Given the description of an element on the screen output the (x, y) to click on. 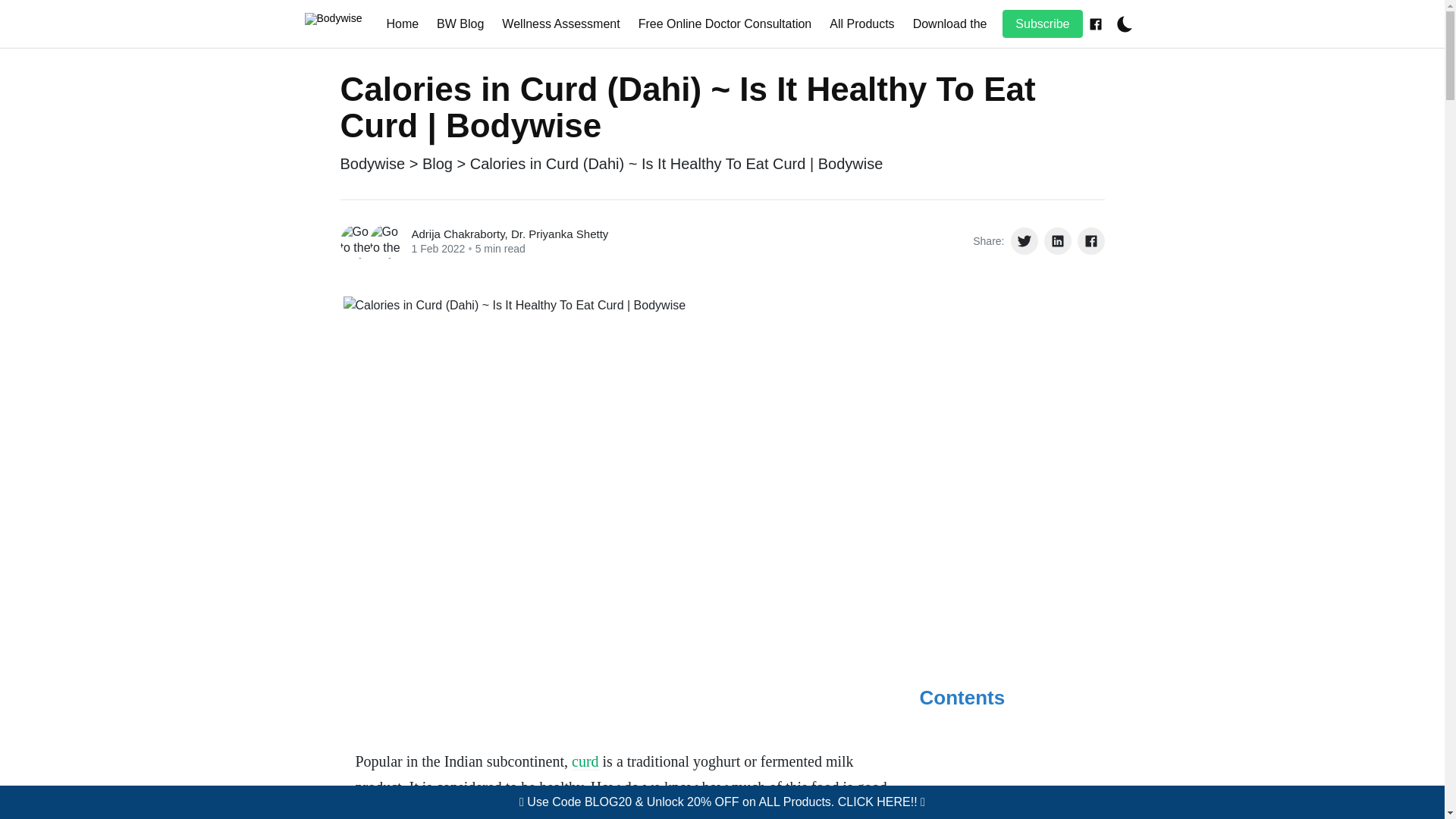
Go to the profile of Adrija Chakraborty (356, 241)
Adrija Chakraborty (456, 233)
Download the Be Bodywise App (999, 22)
Wellness Assessment (560, 22)
Home (402, 22)
Go to the profile of Dr. Priyanka Shetty (386, 241)
BW Blog (460, 22)
Bodywise (371, 163)
Blog (437, 163)
All Products (861, 22)
